Given the description of an element on the screen output the (x, y) to click on. 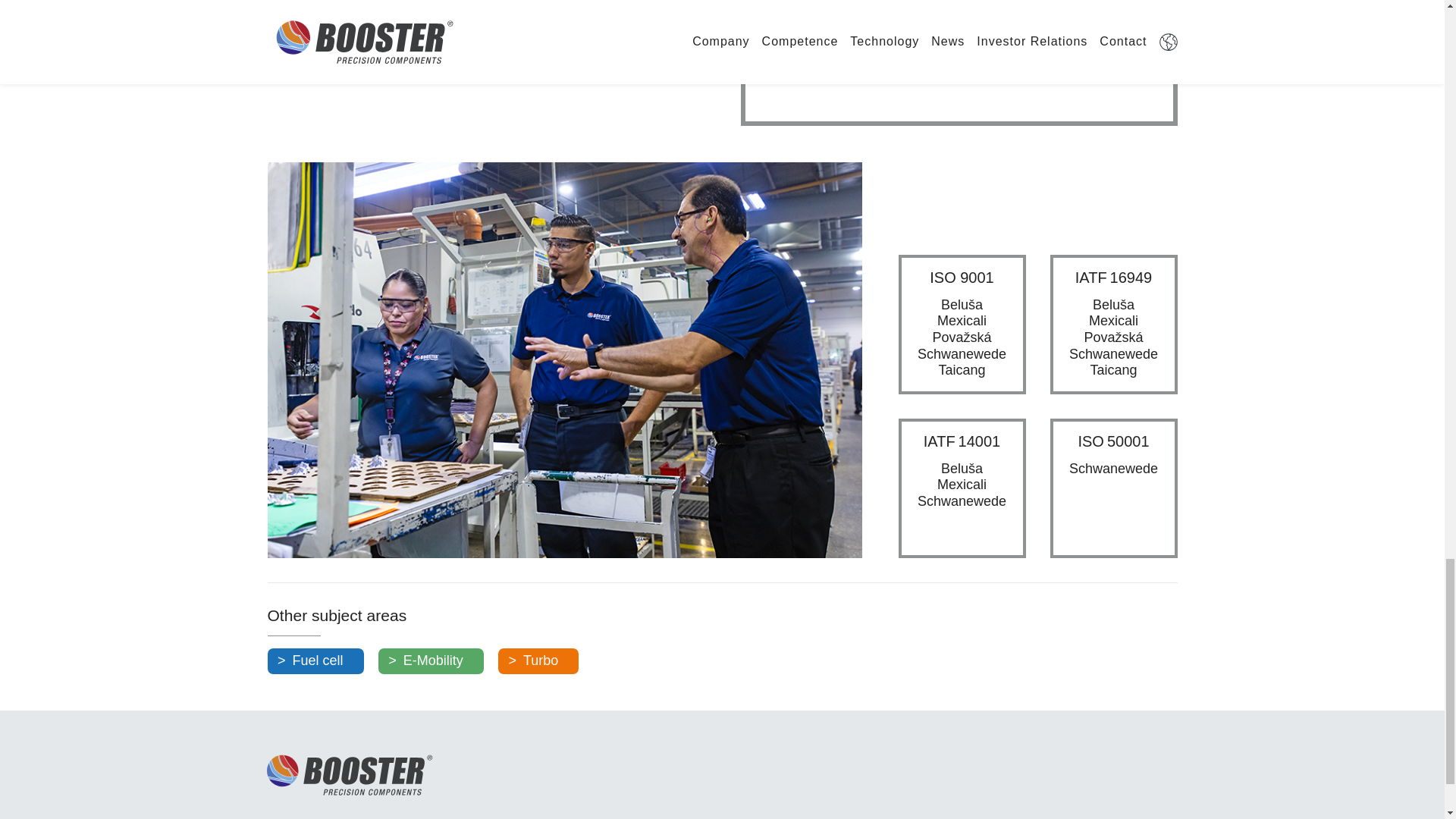
Fuel cell (314, 661)
E-Mobility (430, 661)
Turbo (537, 661)
